Given the description of an element on the screen output the (x, y) to click on. 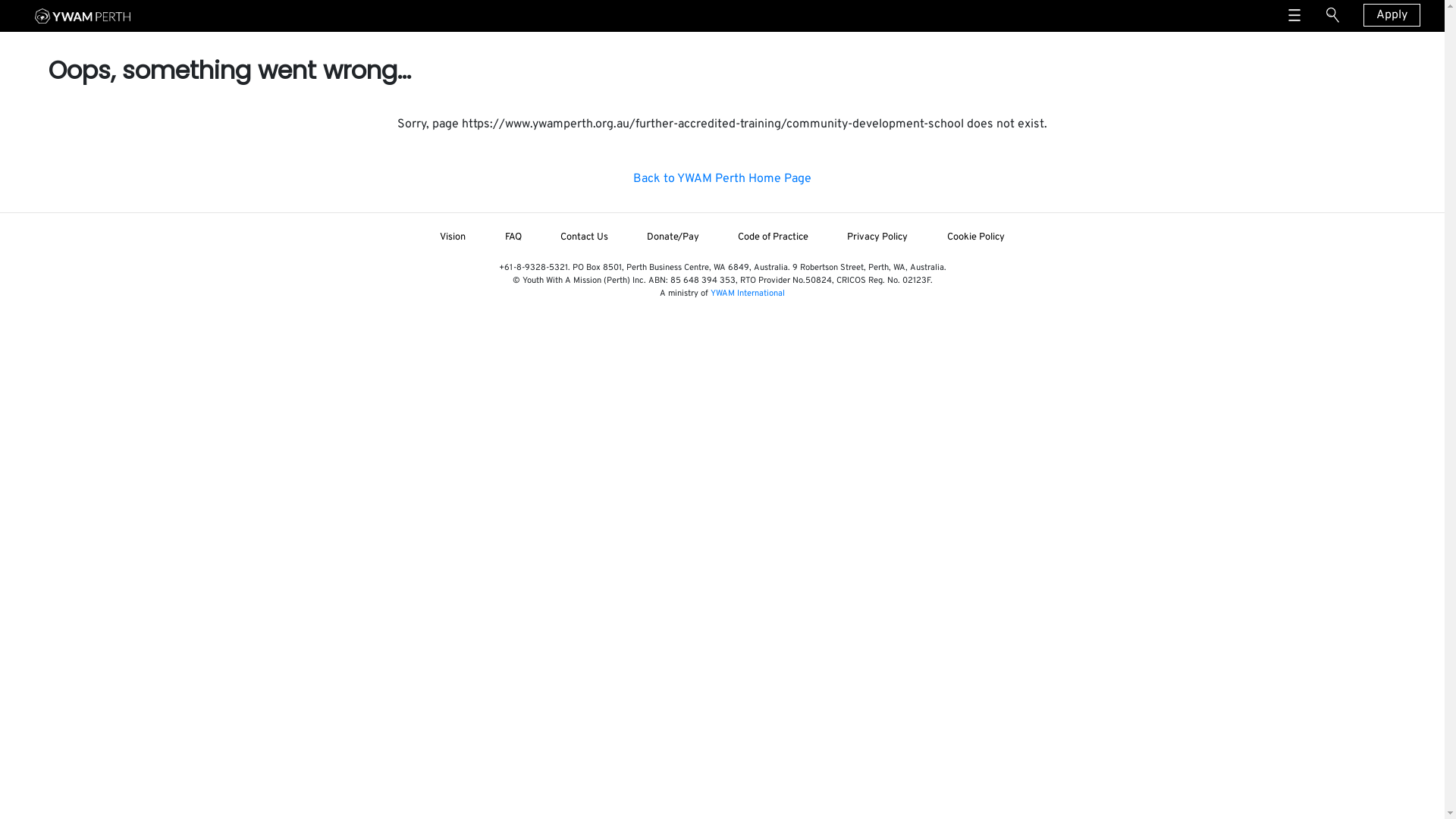
YWAM International Element type: text (747, 293)
Code of Practice Element type: text (773, 237)
Vision Element type: text (452, 237)
Privacy Policy Element type: text (877, 237)
Contact Us Element type: text (583, 237)
Back to YWAM Perth Home Page Element type: text (722, 178)
FAQ Element type: text (512, 237)
Donate/Pay Element type: text (672, 237)
Cookie Policy Element type: text (975, 237)
Apply Element type: text (1391, 14)
